Given the description of an element on the screen output the (x, y) to click on. 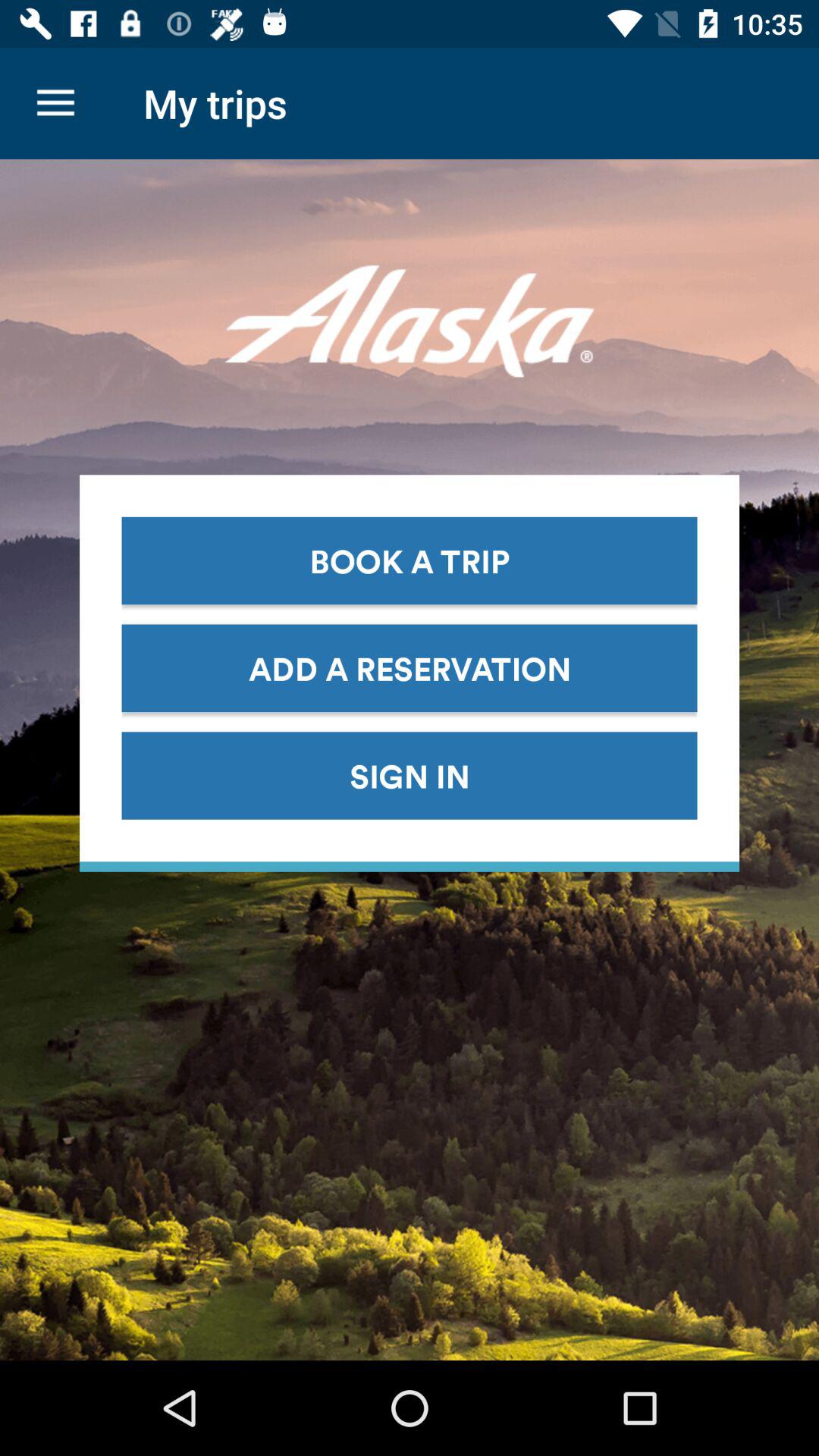
open sign in (409, 775)
